Given the description of an element on the screen output the (x, y) to click on. 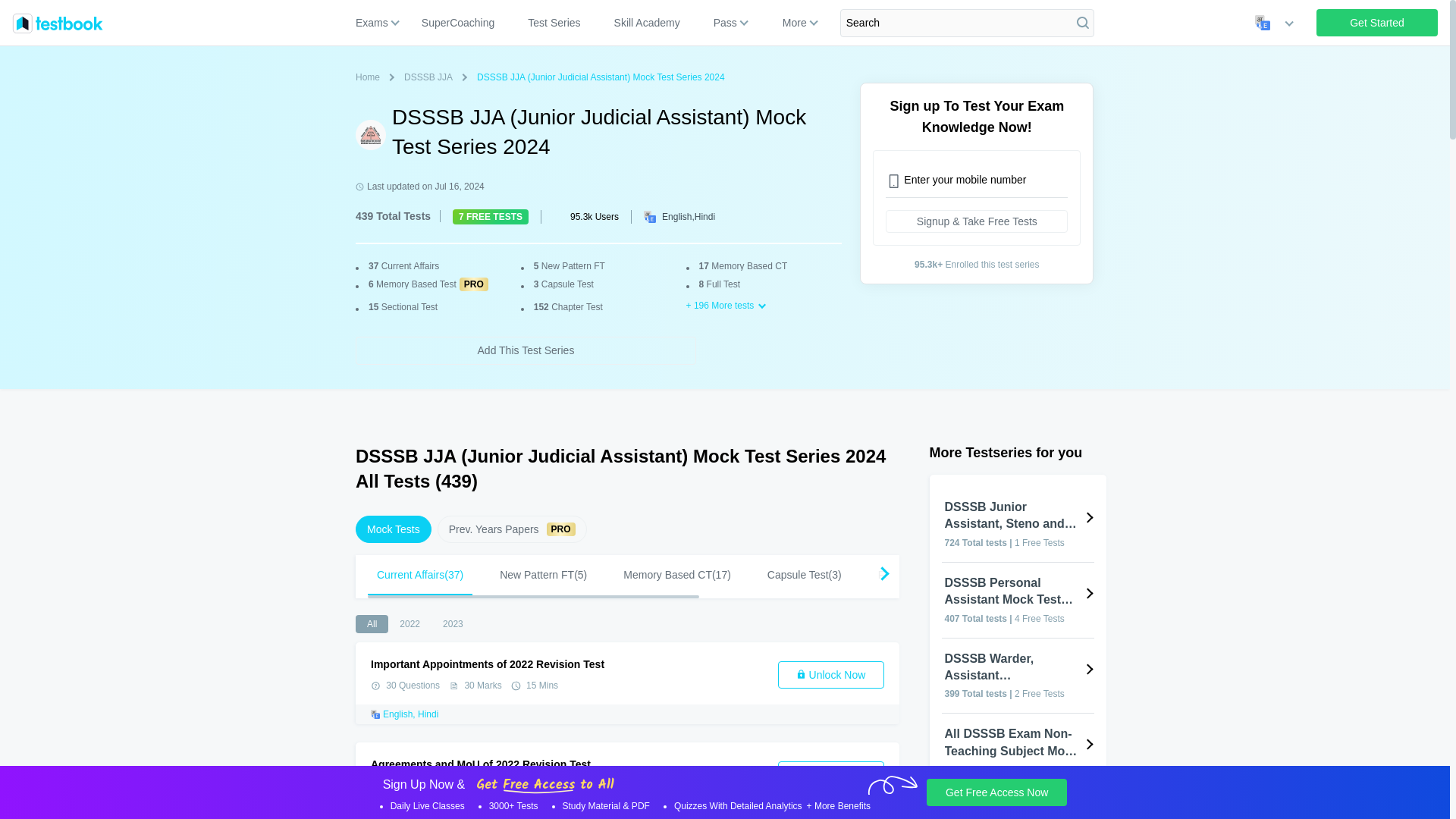
Sign Up (627, 624)
2022 (1377, 22)
Exams (409, 624)
Mock Tests (377, 22)
DSSSB JJA (392, 528)
All (431, 77)
Home (371, 624)
Test Series (370, 77)
Skill Academy (553, 22)
Add This Test Series (647, 22)
Get Started (525, 349)
2023 (1377, 22)
More (452, 624)
Pass (794, 22)
